Given the description of an element on the screen output the (x, y) to click on. 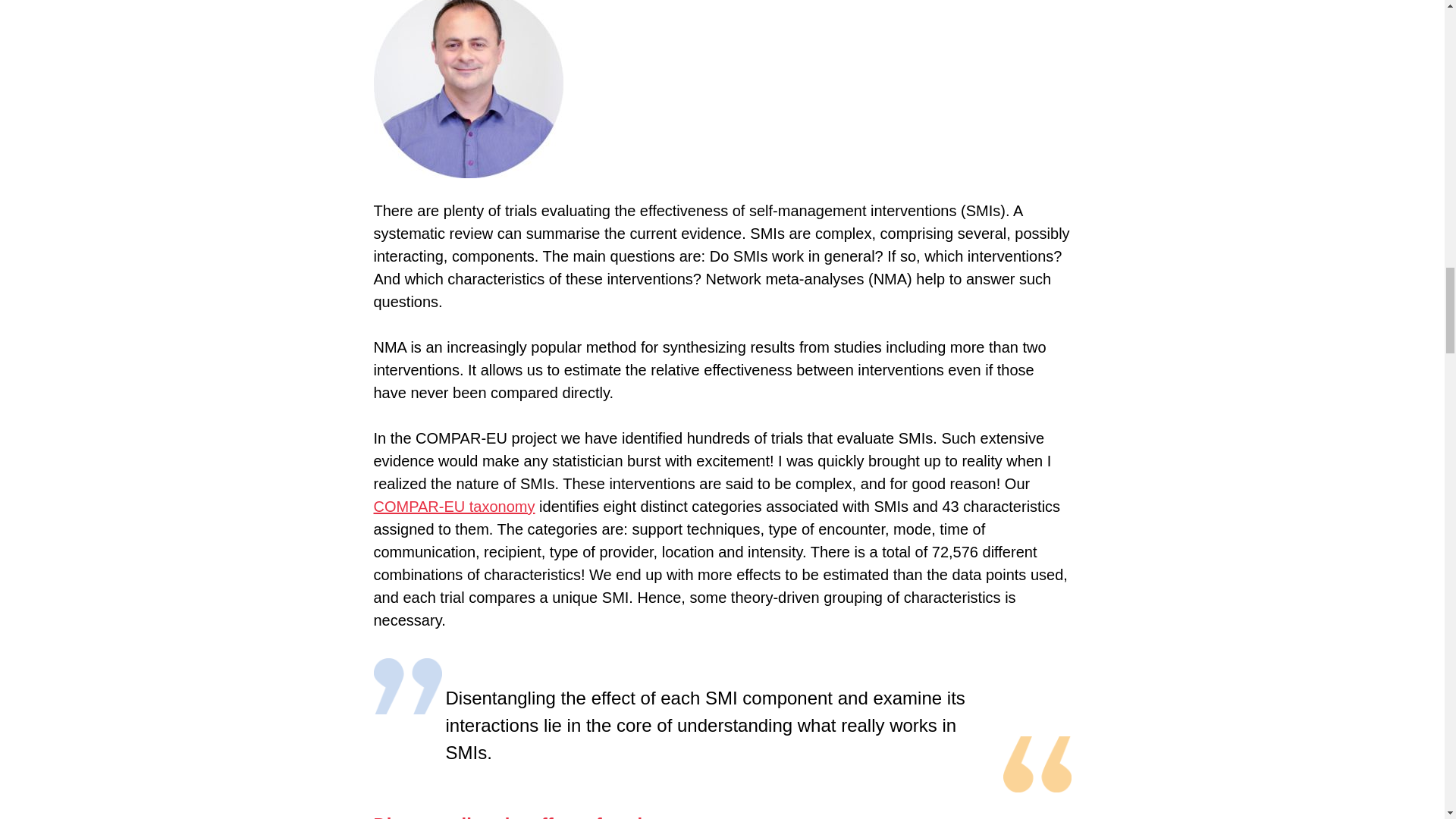
COMPAR-EU taxonomy (453, 506)
